Given the description of an element on the screen output the (x, y) to click on. 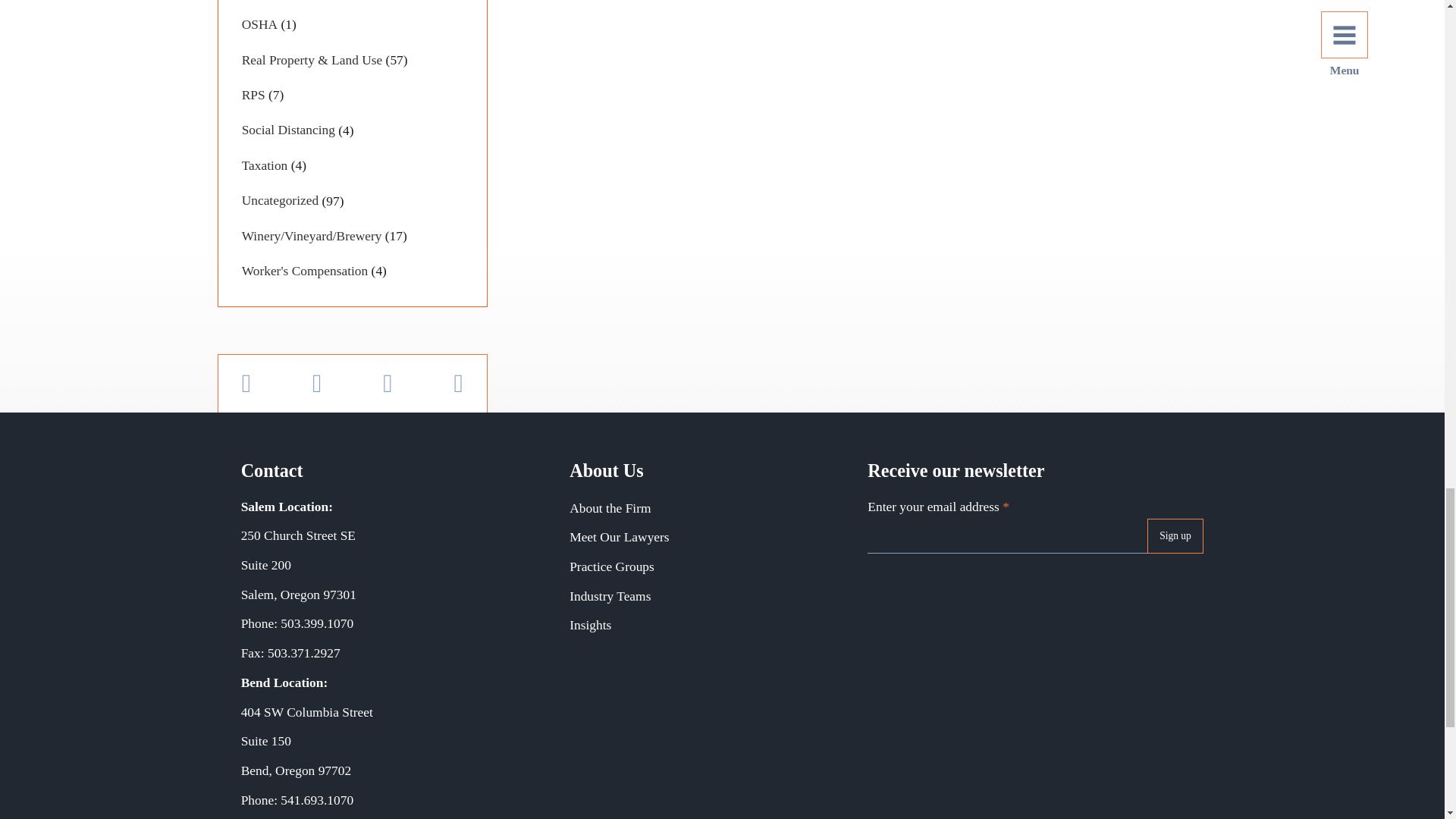
Sign up (1175, 535)
